Given the description of an element on the screen output the (x, y) to click on. 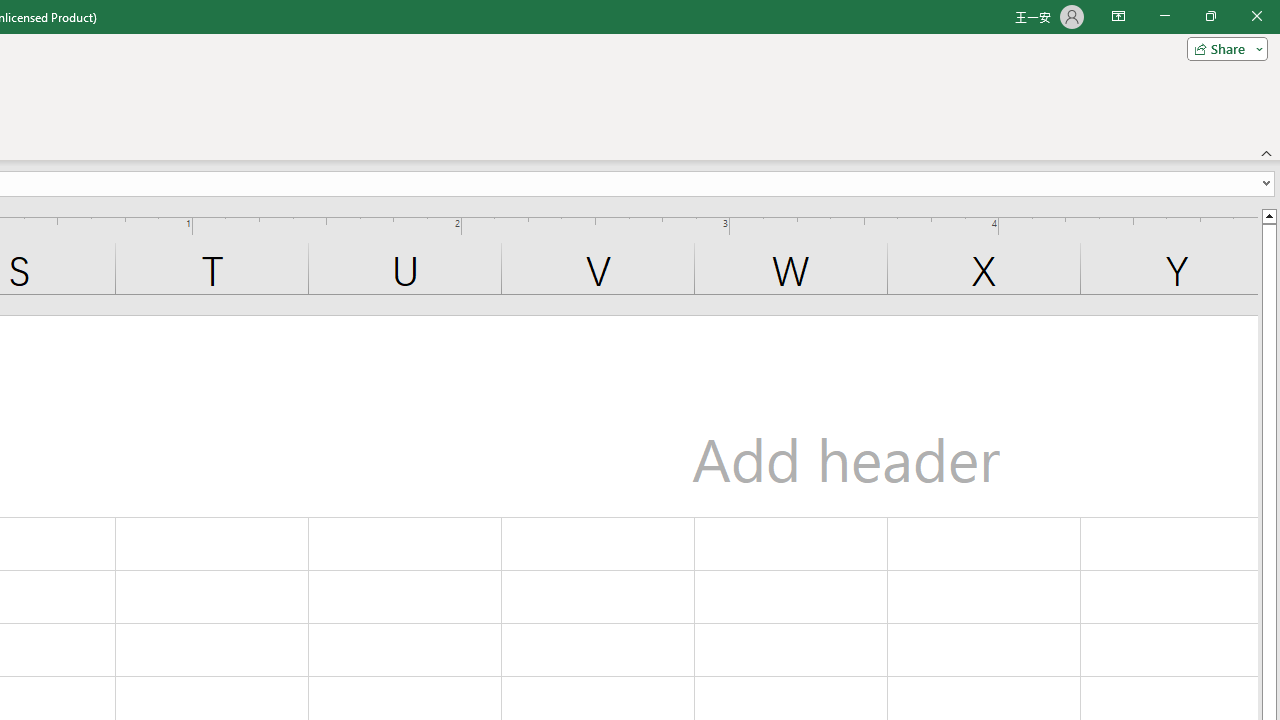
Restore Down (1210, 16)
Close (1256, 16)
Minimize (1164, 16)
Collapse the Ribbon (1267, 152)
Ribbon Display Options (1118, 16)
Share (1223, 48)
Line up (1268, 215)
